Given the description of an element on the screen output the (x, y) to click on. 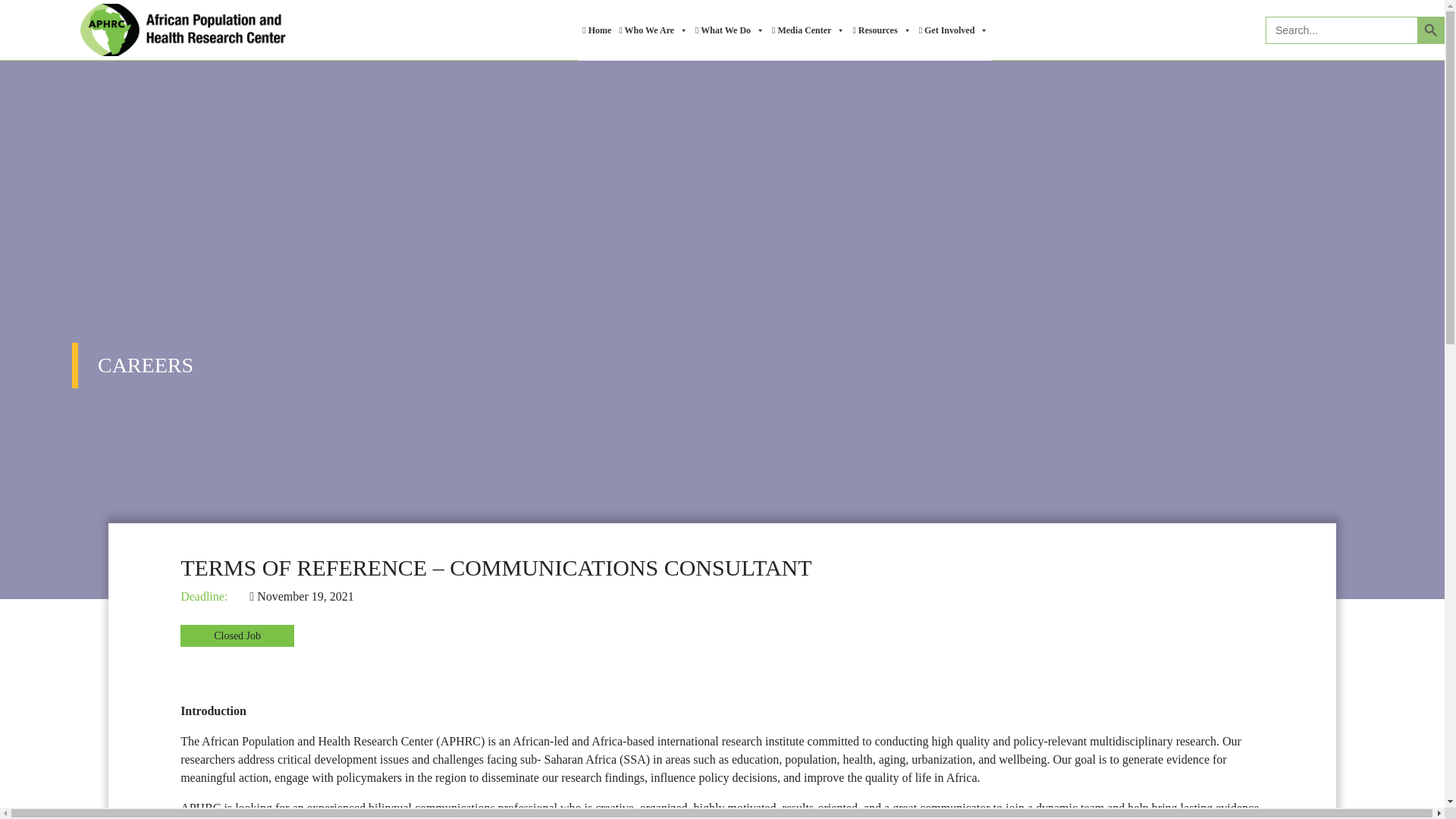
Media Center (808, 30)
Get Involved (953, 30)
What We Do (729, 30)
Who We Are (652, 30)
APHRC (181, 29)
Resources (881, 30)
